Given the description of an element on the screen output the (x, y) to click on. 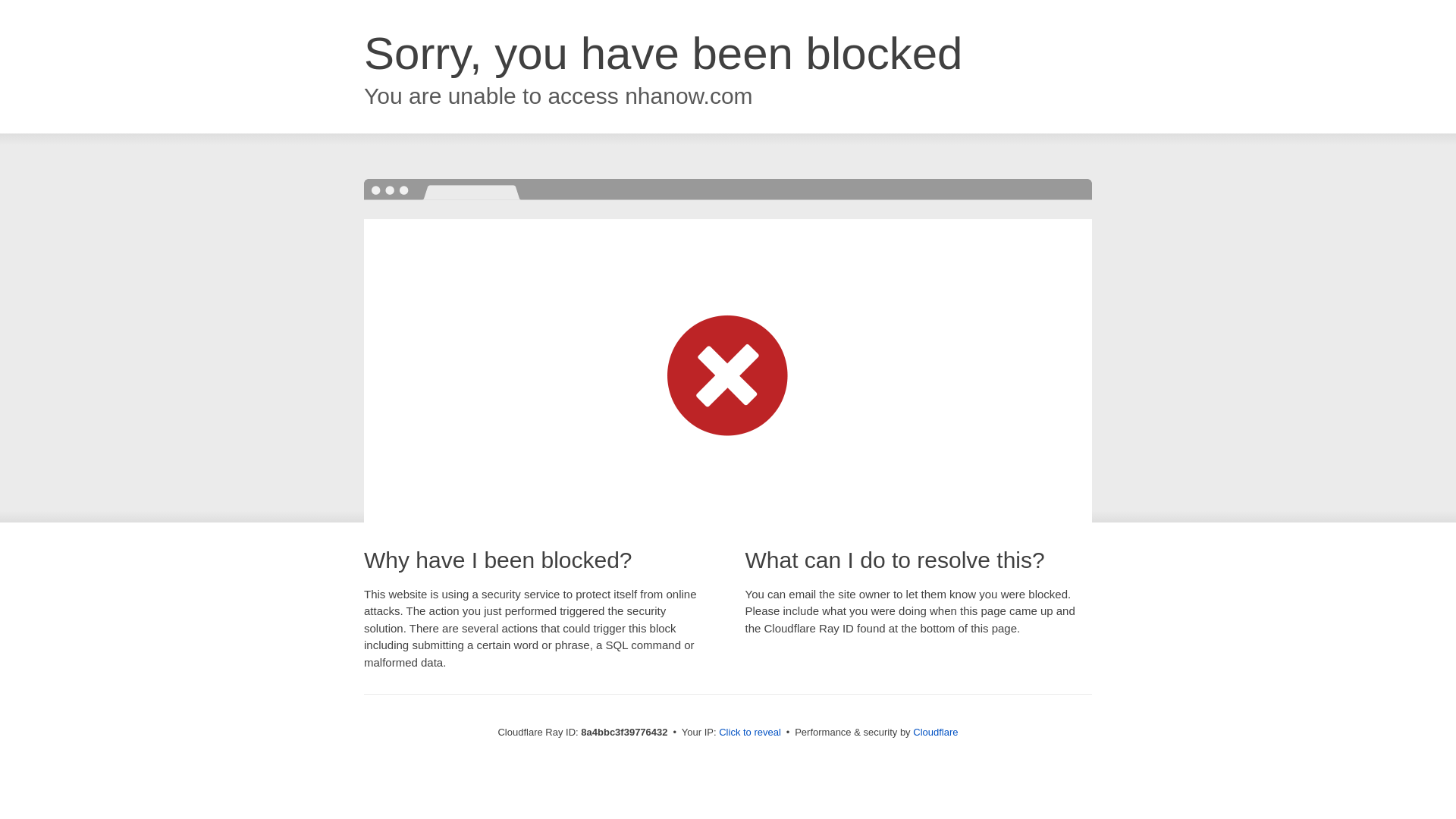
Click to reveal (749, 732)
Cloudflare (935, 731)
